Given the description of an element on the screen output the (x, y) to click on. 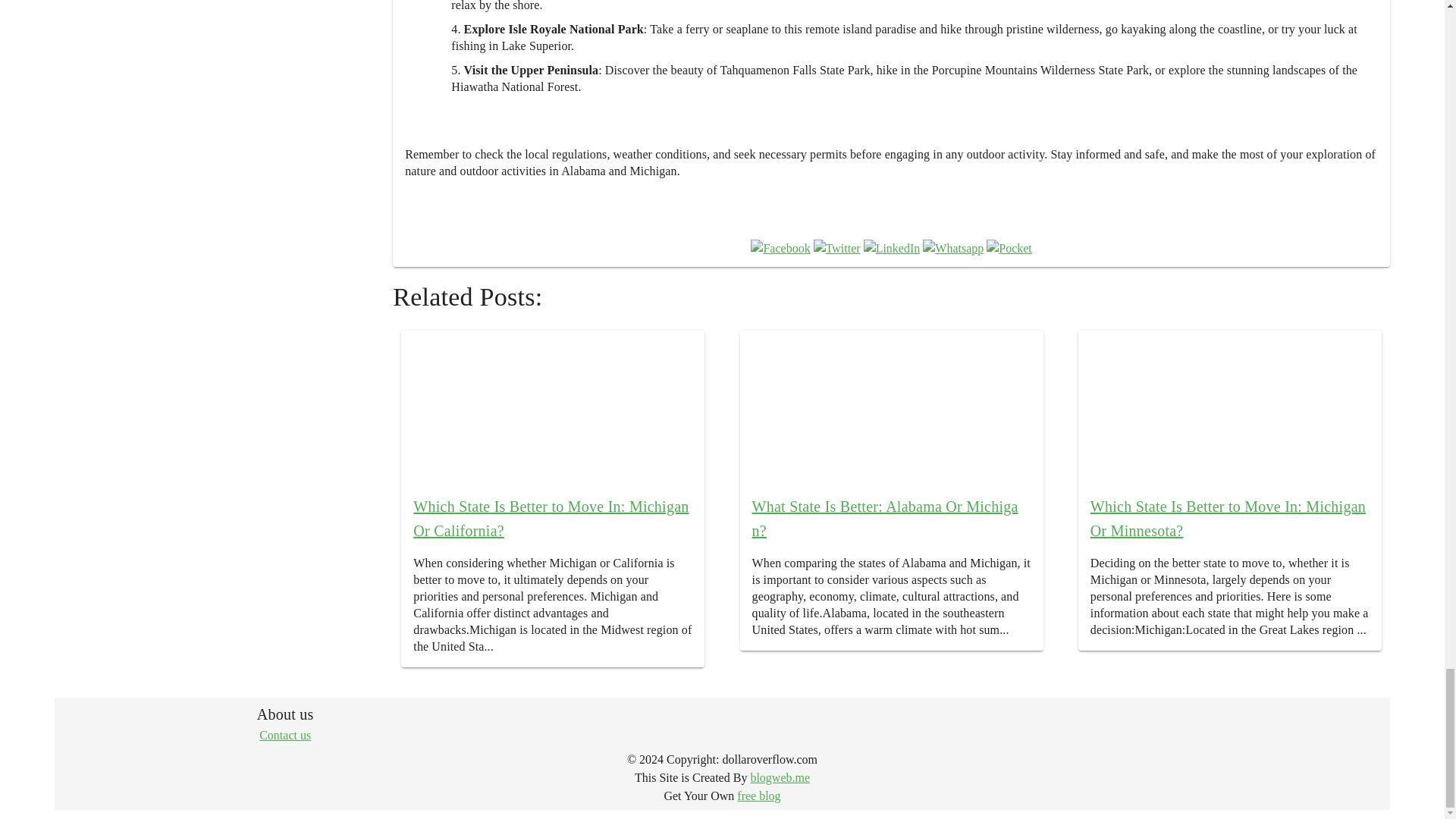
Twitter (836, 248)
Whatsapp (953, 248)
LinkedIn (891, 248)
Facebook (780, 248)
Pocket (1009, 248)
